Given the description of an element on the screen output the (x, y) to click on. 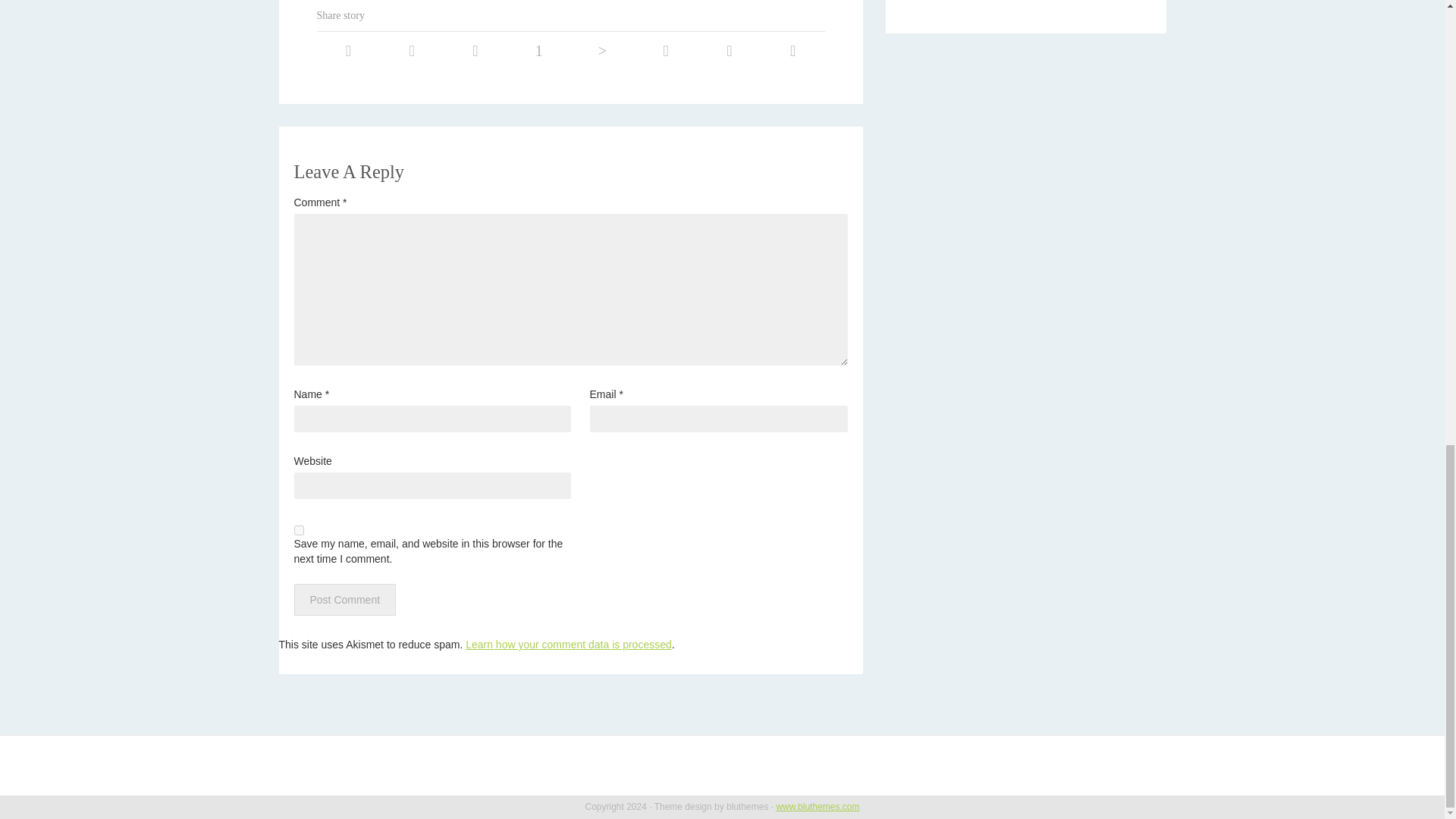
Spotify Embed: Office Radio (1025, 2)
Post Comment (345, 599)
yes (299, 530)
